Given the description of an element on the screen output the (x, y) to click on. 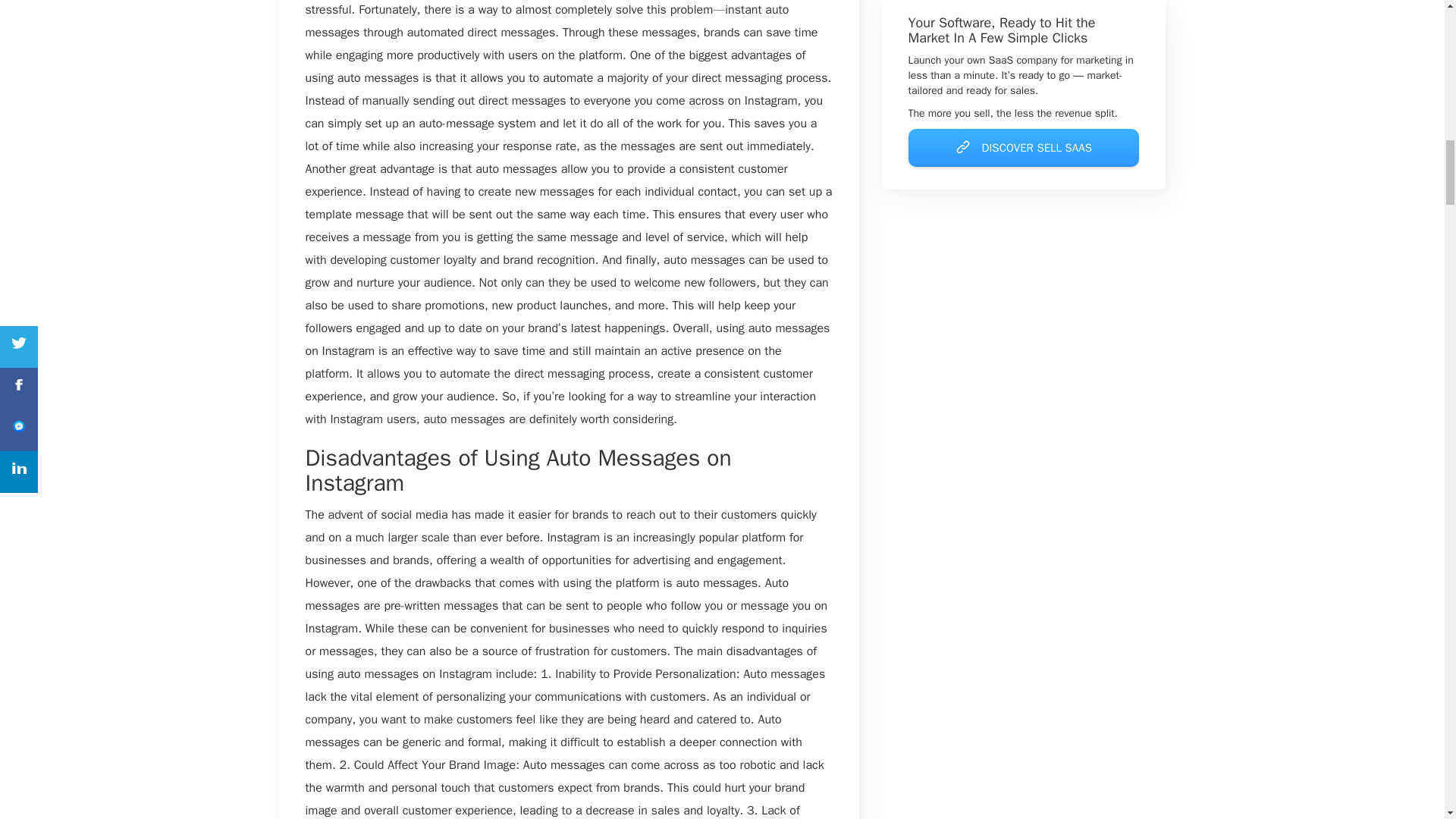
Discover Sell SaaS (1024, 147)
DISCOVER SELL SAAS (1024, 147)
DISCOVER SELL SAAS (1024, 147)
